Given the description of an element on the screen output the (x, y) to click on. 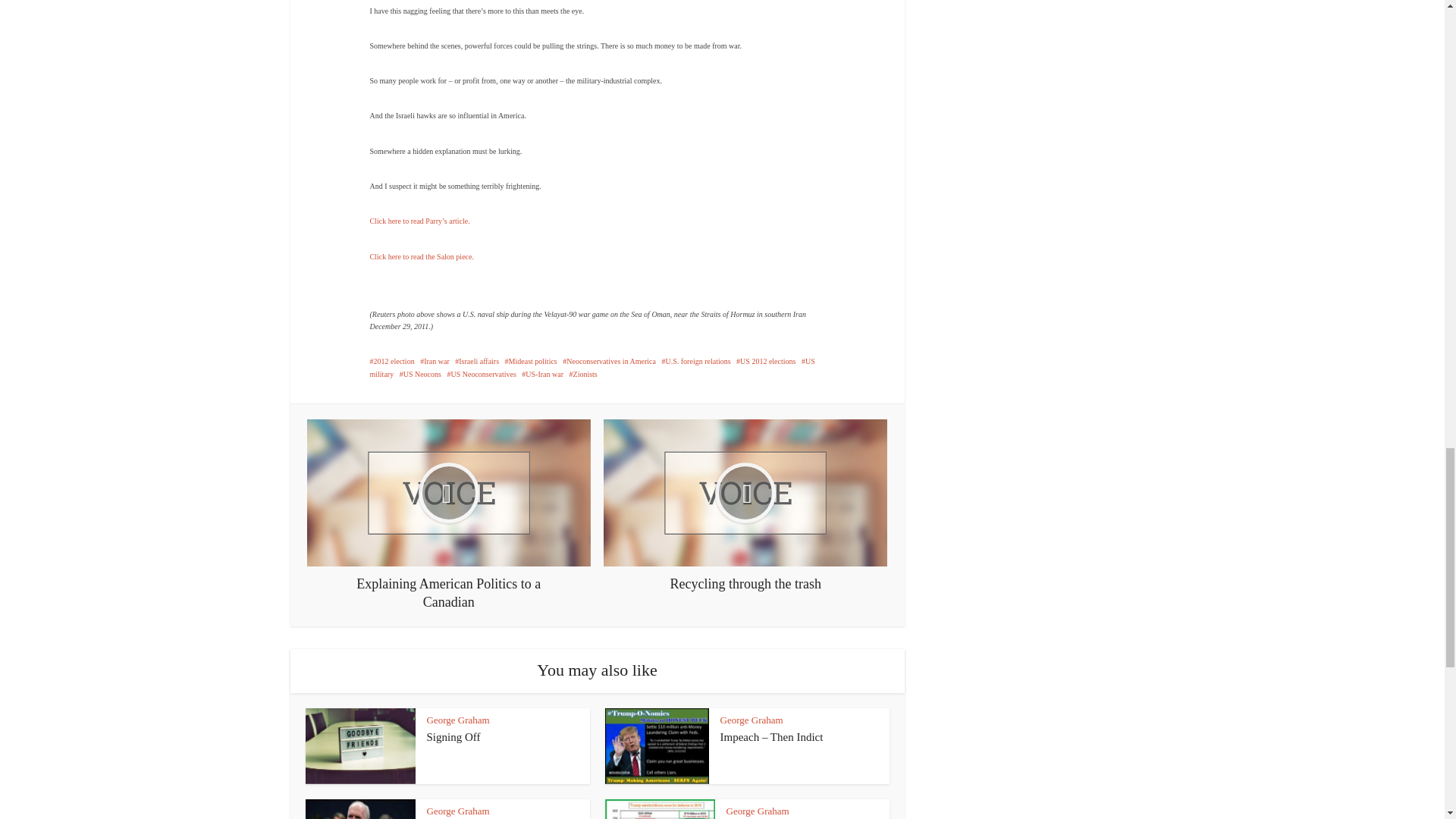
Zionists (582, 374)
George Graham (751, 719)
Signing Off (453, 736)
US military (592, 367)
Recycling through the trash (745, 505)
US Neoconservatives (480, 374)
US 2012 elections (765, 361)
Click here to read the Salon piece. (421, 256)
George Graham (457, 719)
Signing Off (453, 736)
US-Iran war (542, 374)
Neoconservatives in America (609, 361)
Iran war (434, 361)
Mideast politics (531, 361)
Israeli affairs (476, 361)
